Given the description of an element on the screen output the (x, y) to click on. 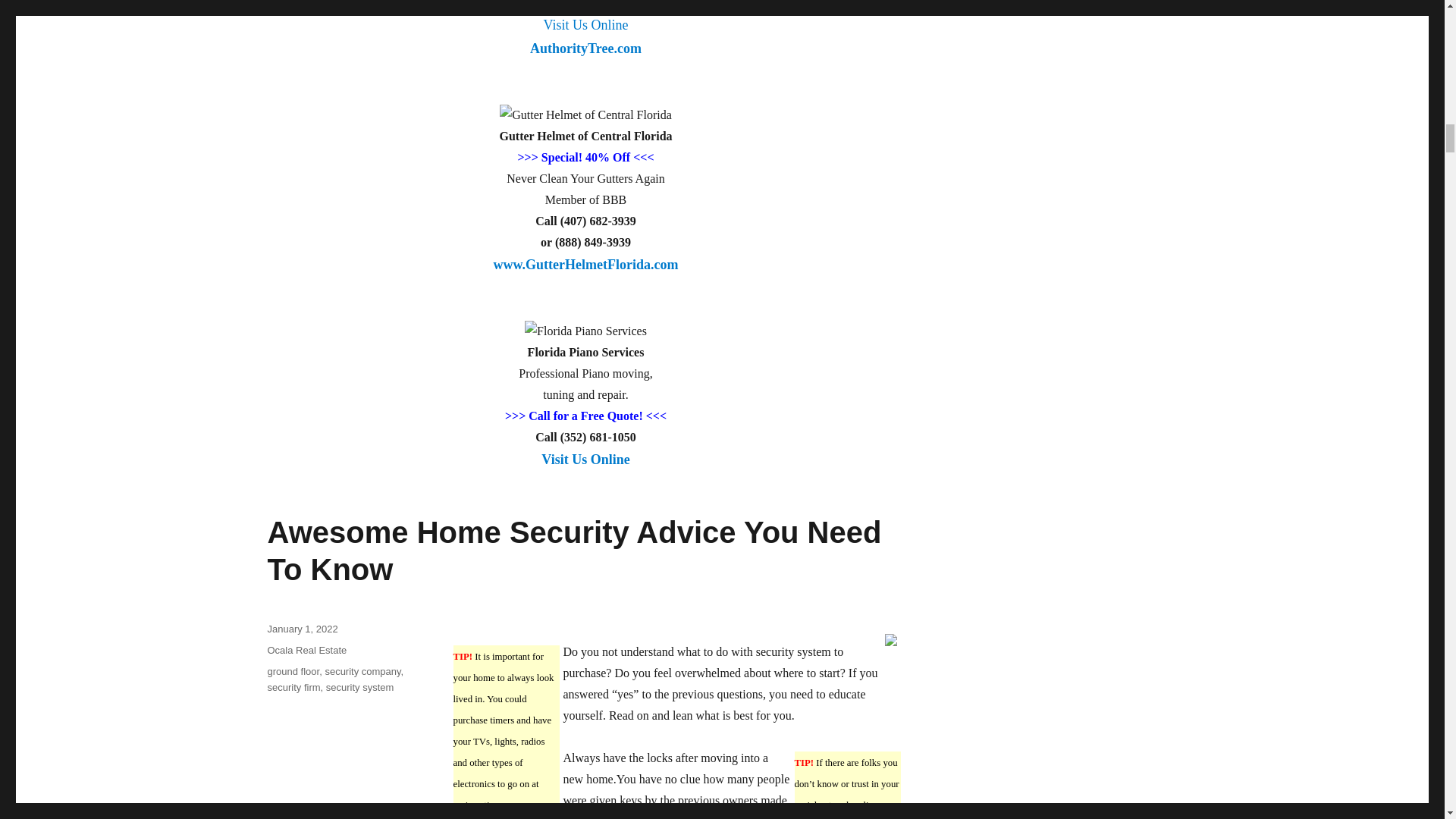
security system (360, 686)
security company (362, 671)
January 1, 2022 (301, 628)
Ocala Real Estate (306, 650)
Visit Us Online (585, 467)
www.GutterHelmetFlorida.com (585, 45)
ground floor (585, 273)
Awesome Home Security Advice You Need To Know (292, 671)
security firm (573, 550)
